Given the description of an element on the screen output the (x, y) to click on. 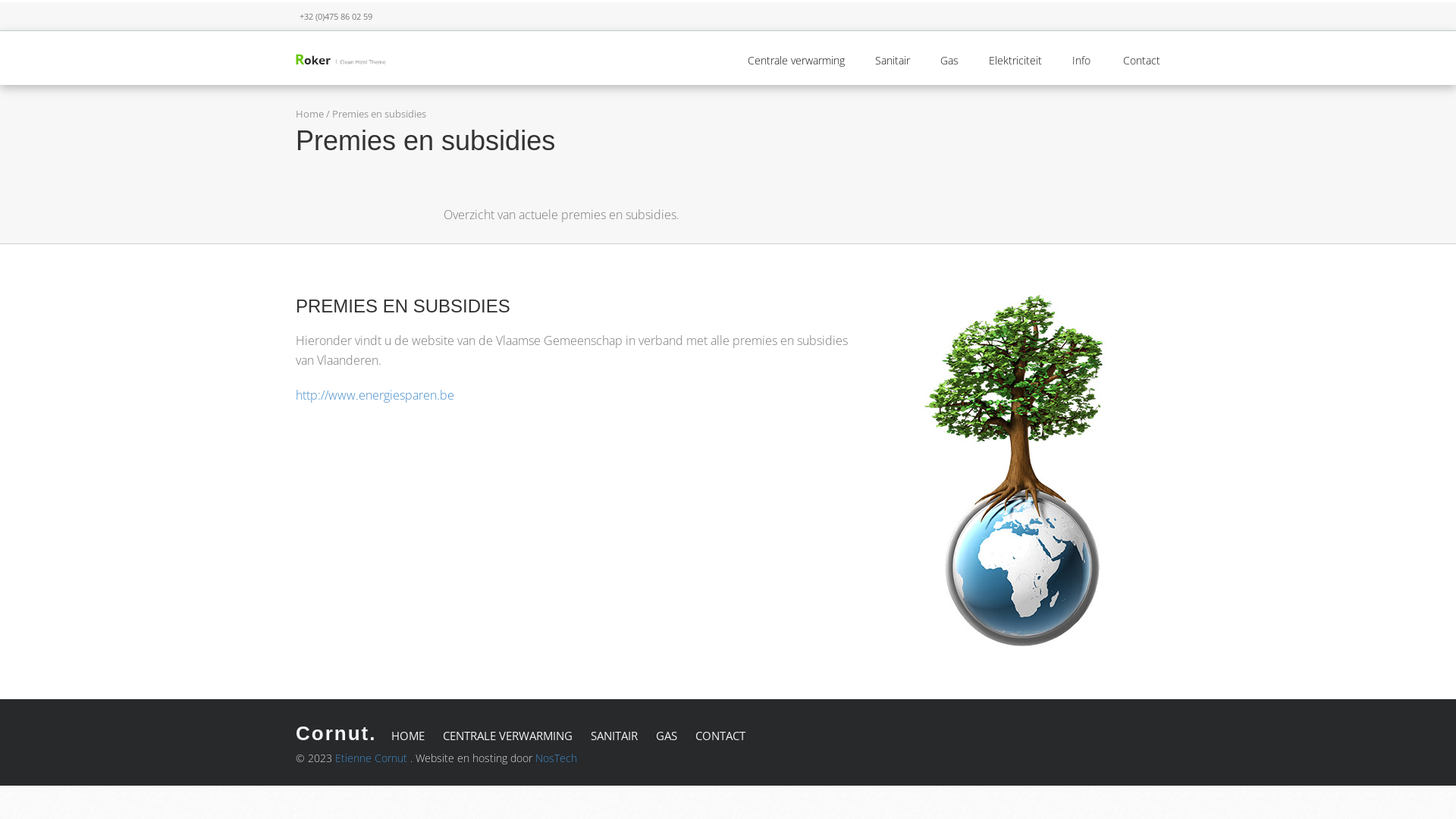
Etienne Cornut Element type: text (371, 757)
Info Element type: text (1082, 60)
HOME Element type: text (407, 735)
Contact Element type: text (1141, 60)
Home Element type: hover (340, 57)
Centrale verwarming Element type: text (795, 60)
Sanitair Element type: text (892, 60)
http://www.energiesparen.be Element type: text (374, 394)
Gas Element type: text (949, 60)
SANITAIR Element type: text (613, 735)
CENTRALE VERWARMING Element type: text (507, 735)
Home Element type: text (309, 113)
NosTech Element type: text (556, 757)
CONTACT Element type: text (720, 735)
GAS Element type: text (666, 735)
Elektriciteit Element type: text (1014, 60)
